Given the description of an element on the screen output the (x, y) to click on. 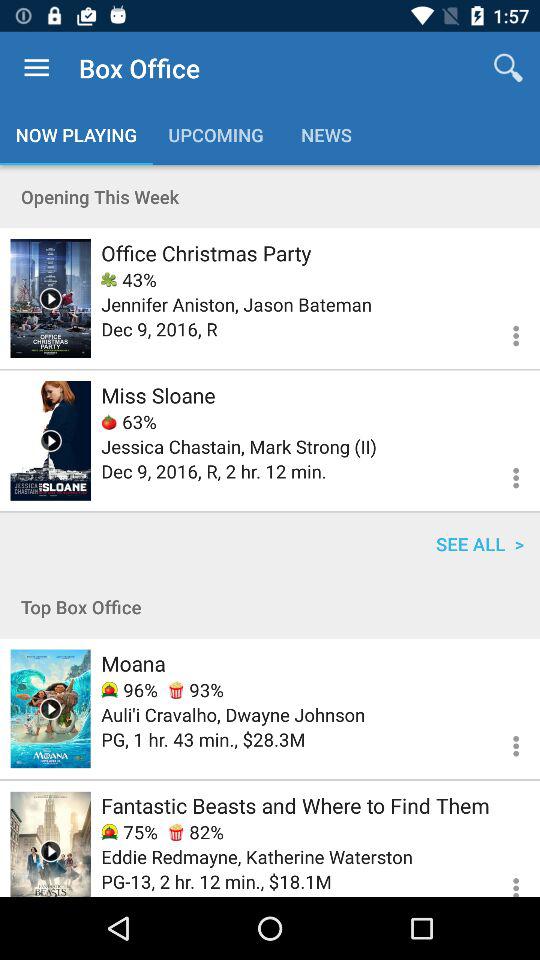
tap the item to the left of the box office item (36, 68)
